Given the description of an element on the screen output the (x, y) to click on. 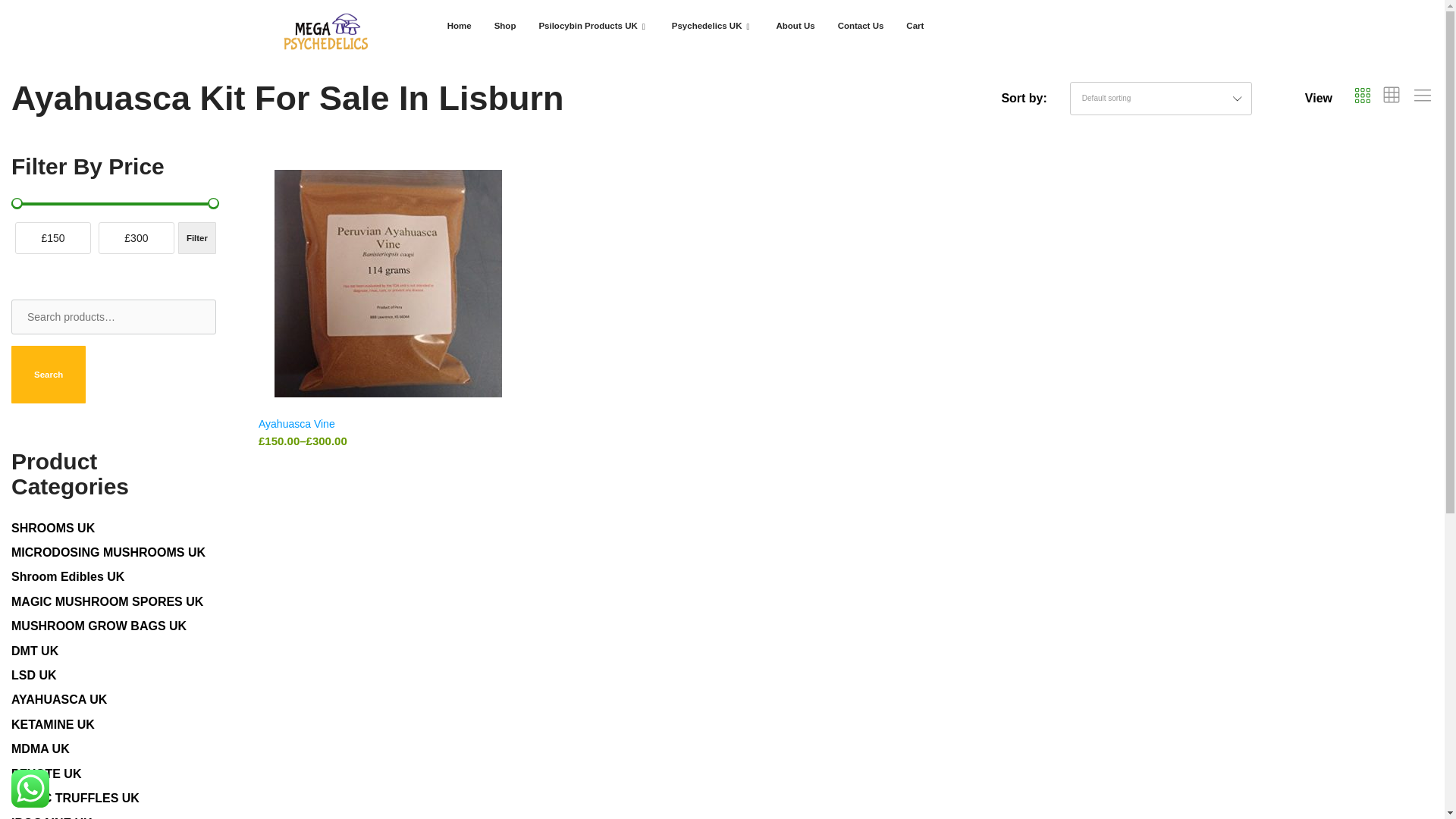
Contact Us (861, 26)
Shop (505, 26)
Cart (914, 26)
Ayahuasca Vine (296, 422)
About Us (796, 26)
Psychedelics UK (713, 26)
Default sorting (1249, 173)
Home (459, 26)
Psilocybin Products UK (593, 26)
